Given the description of an element on the screen output the (x, y) to click on. 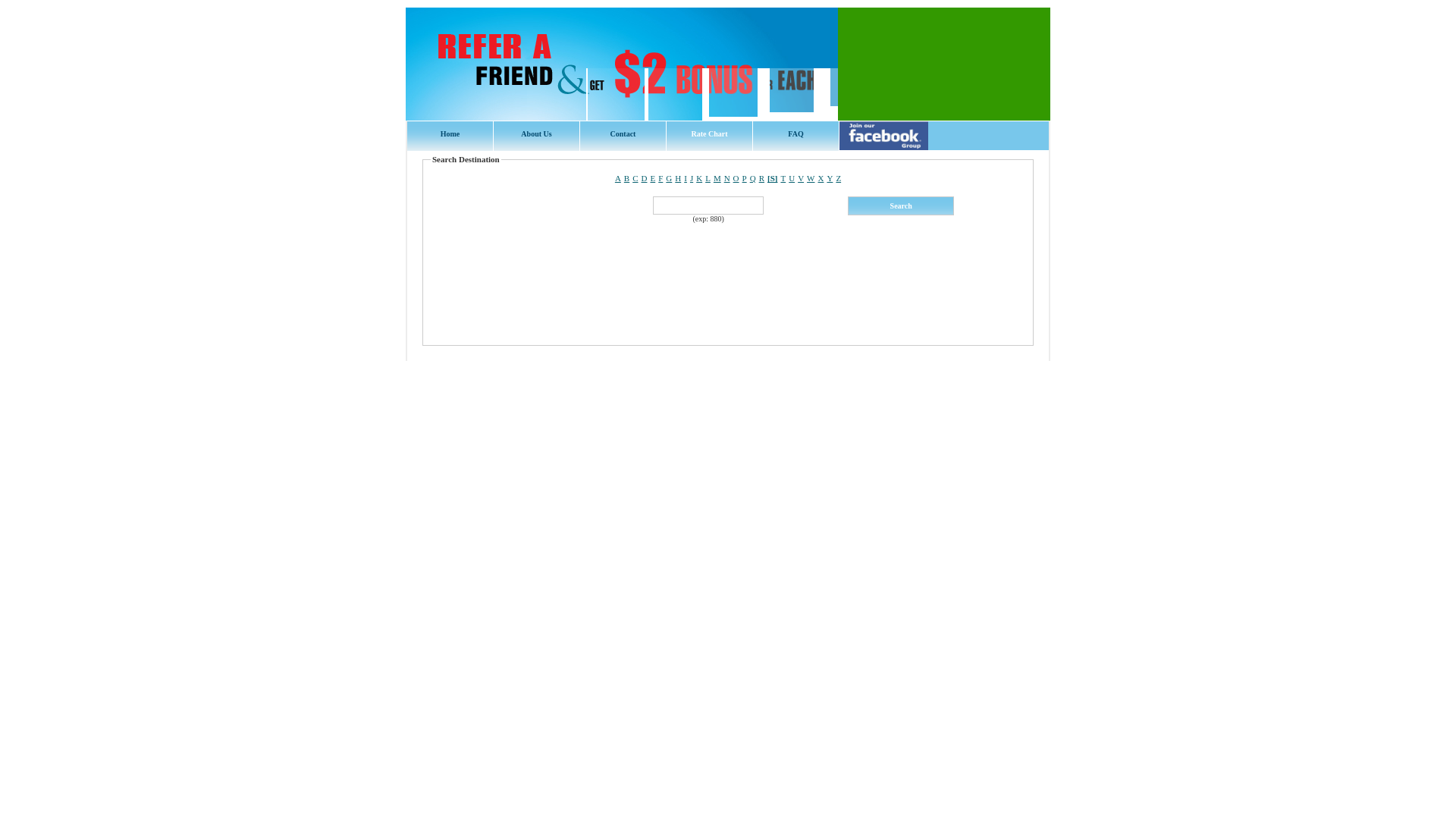
Rate Chart Element type: text (709, 135)
L Element type: text (707, 177)
Contact Element type: text (623, 135)
O Element type: text (736, 177)
N Element type: text (727, 177)
FAQ Element type: text (796, 135)
D Element type: text (644, 177)
M Element type: text (717, 177)
X Element type: text (820, 177)
P Element type: text (744, 177)
U Element type: text (791, 177)
K Element type: text (699, 177)
F Element type: text (660, 177)
J Element type: text (691, 177)
W Element type: text (810, 177)
Z Element type: text (837, 177)
T Element type: text (782, 177)
Y Element type: text (829, 177)
V Element type: text (800, 177)
 Search  Element type: text (900, 205)
R Element type: text (761, 177)
C Element type: text (634, 177)
About Us Element type: text (536, 135)
Q Element type: text (752, 177)
B Element type: text (626, 177)
G Element type: text (668, 177)
[S] Element type: text (772, 177)
I Element type: text (685, 177)
H Element type: text (677, 177)
A Element type: text (618, 177)
Home Element type: text (450, 135)
E Element type: text (652, 177)
